Given the description of an element on the screen output the (x, y) to click on. 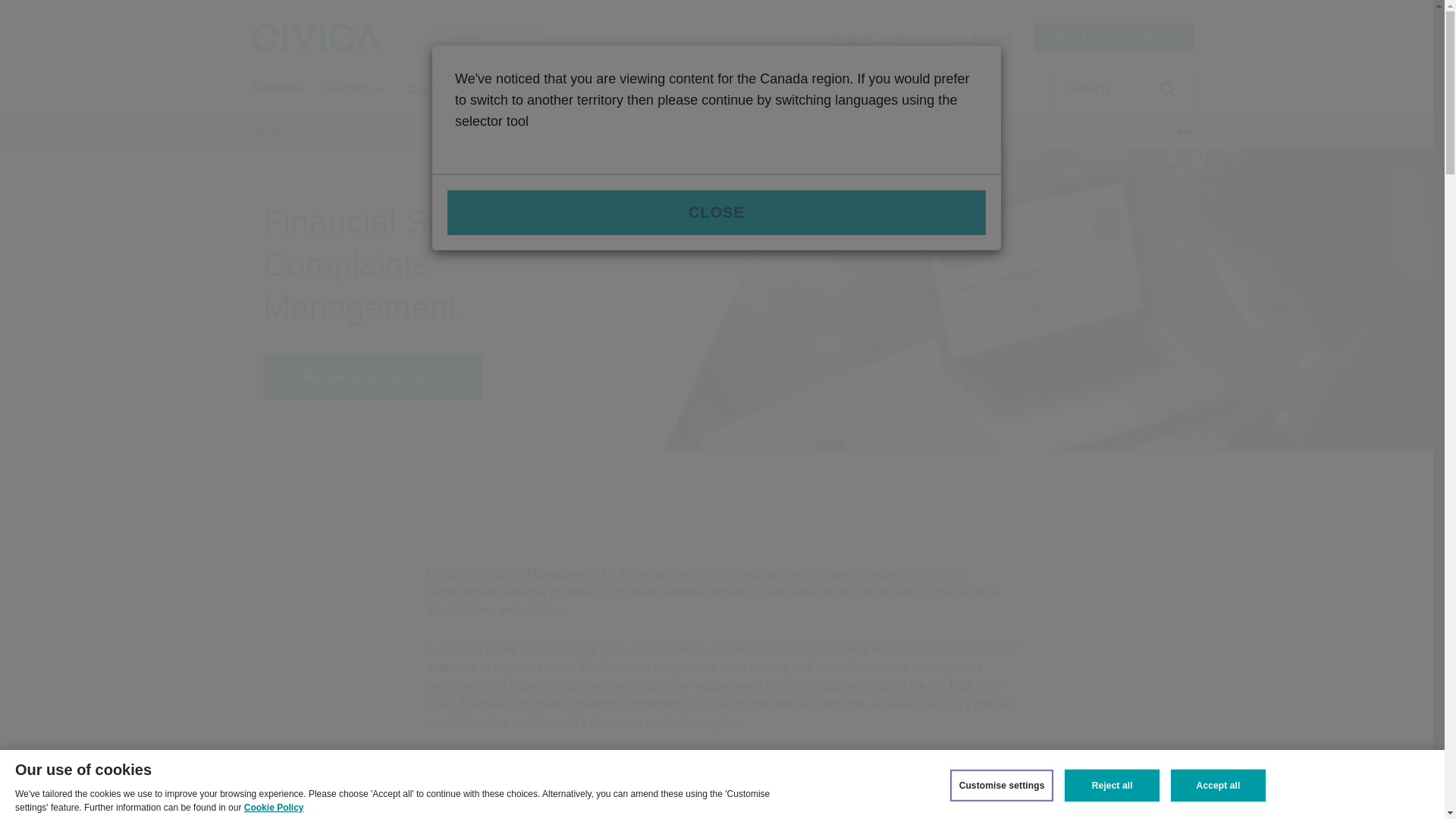
Search (1159, 95)
Request a call back (371, 375)
Careers (991, 37)
Previous (1143, 800)
Capabilities (449, 88)
Resources (922, 37)
Sectors (354, 88)
Insights (851, 37)
Home (267, 128)
Software (276, 88)
Search (1159, 95)
Search (1159, 95)
Canada (485, 37)
Print (1183, 128)
Start your journey (1112, 37)
